Given the description of an element on the screen output the (x, y) to click on. 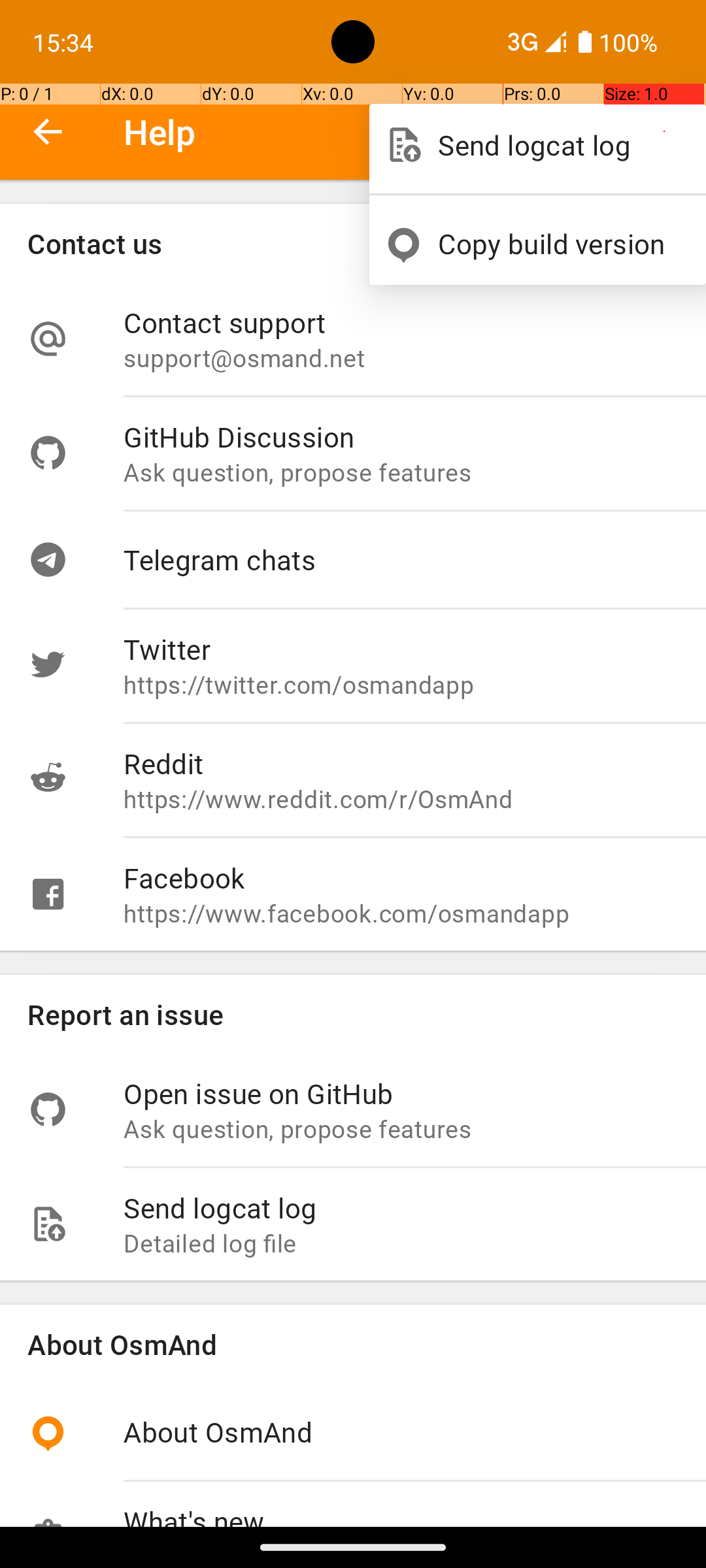
Send logcat log Element type: android.widget.TextView (557, 144)
Copy build version Element type: android.widget.TextView (557, 242)
